Given the description of an element on the screen output the (x, y) to click on. 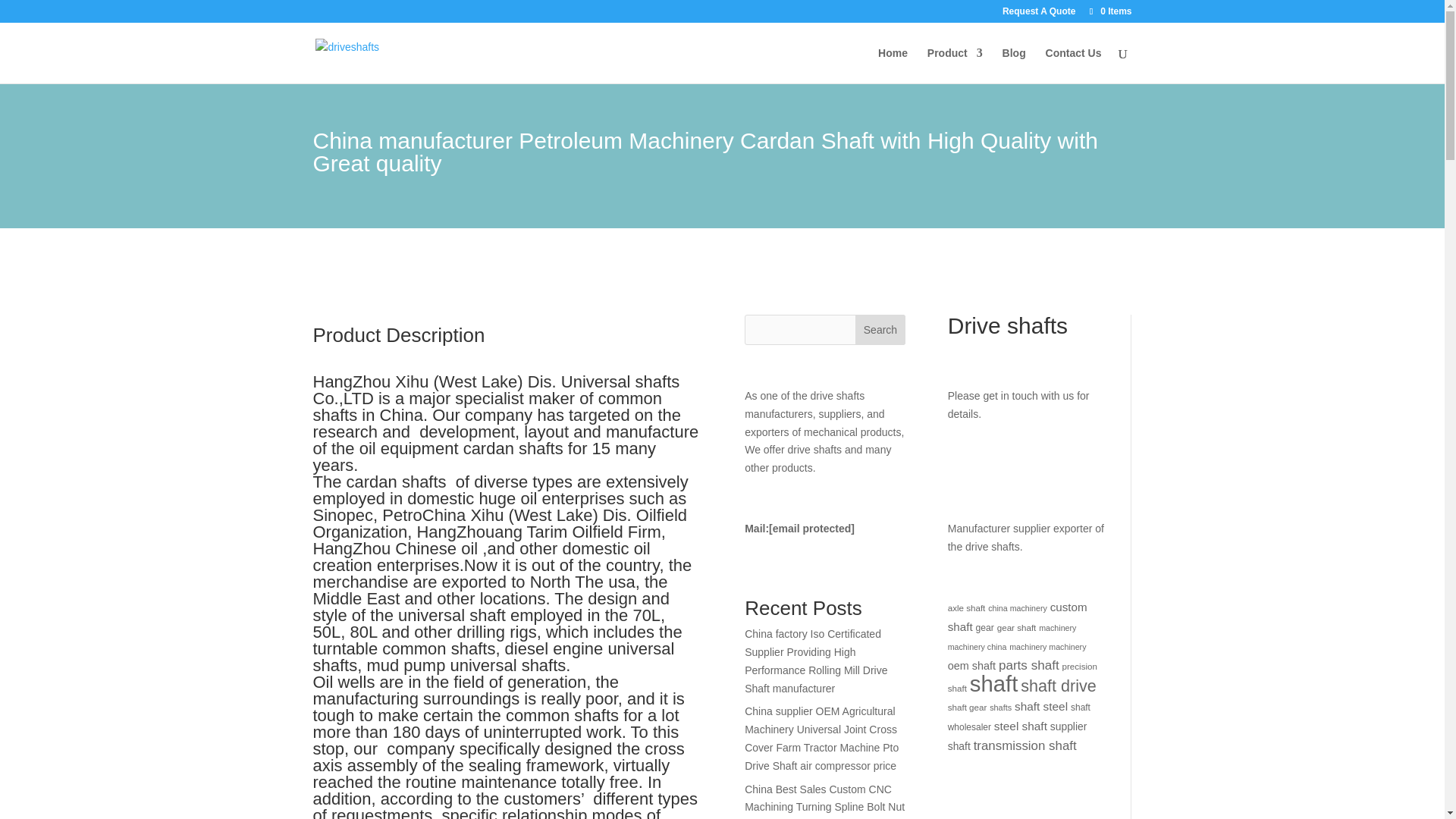
Request A Quote (1039, 14)
Search (880, 329)
Product (954, 65)
0 Items (1108, 10)
Contact Us (1073, 65)
